Given the description of an element on the screen output the (x, y) to click on. 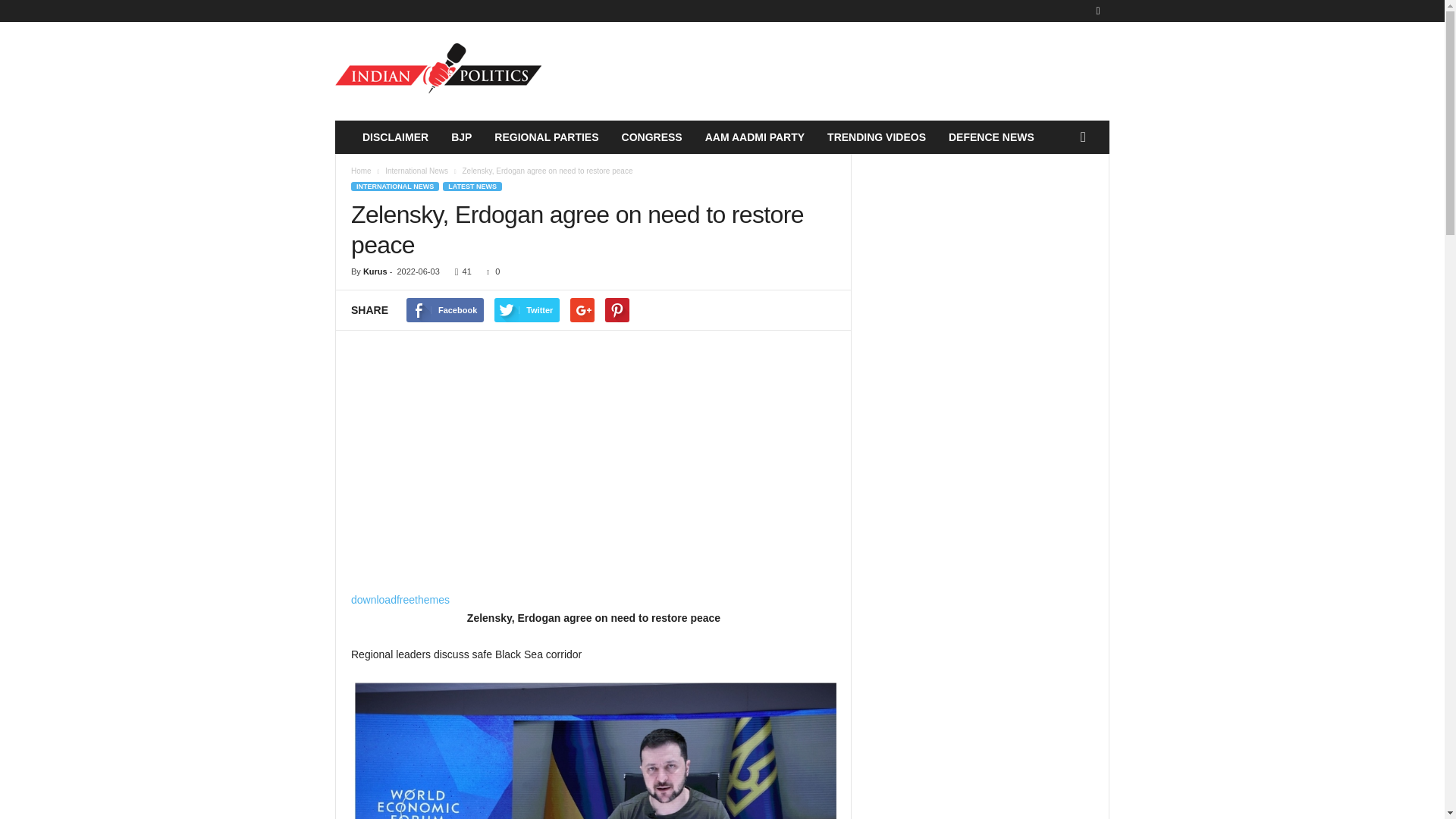
Home (360, 171)
Twitter (527, 310)
Logo (437, 70)
Facebook (444, 310)
Advertisement (592, 467)
CONGRESS (652, 136)
AAM AADMI PARTY (754, 136)
INTERNATIONAL NEWS (394, 185)
DISCLAIMER (394, 136)
International News (416, 171)
Indian Politics (437, 70)
LATEST NEWS (472, 185)
0 (489, 271)
BJP (461, 136)
View all posts in International News (416, 171)
